Given the description of an element on the screen output the (x, y) to click on. 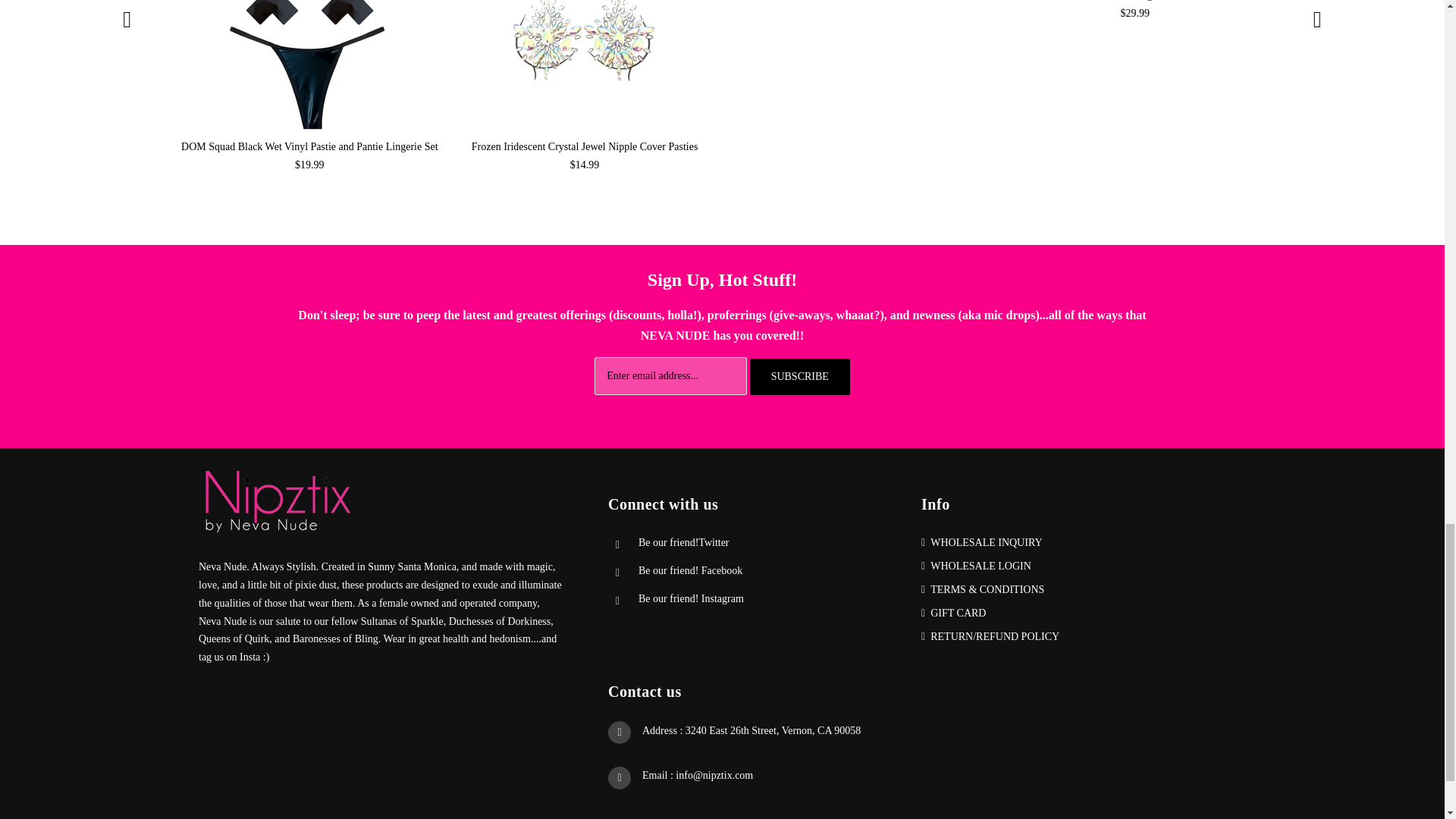
Facebook (690, 570)
Twitter (684, 542)
Instagram (691, 598)
Subscribe (799, 376)
